Given the description of an element on the screen output the (x, y) to click on. 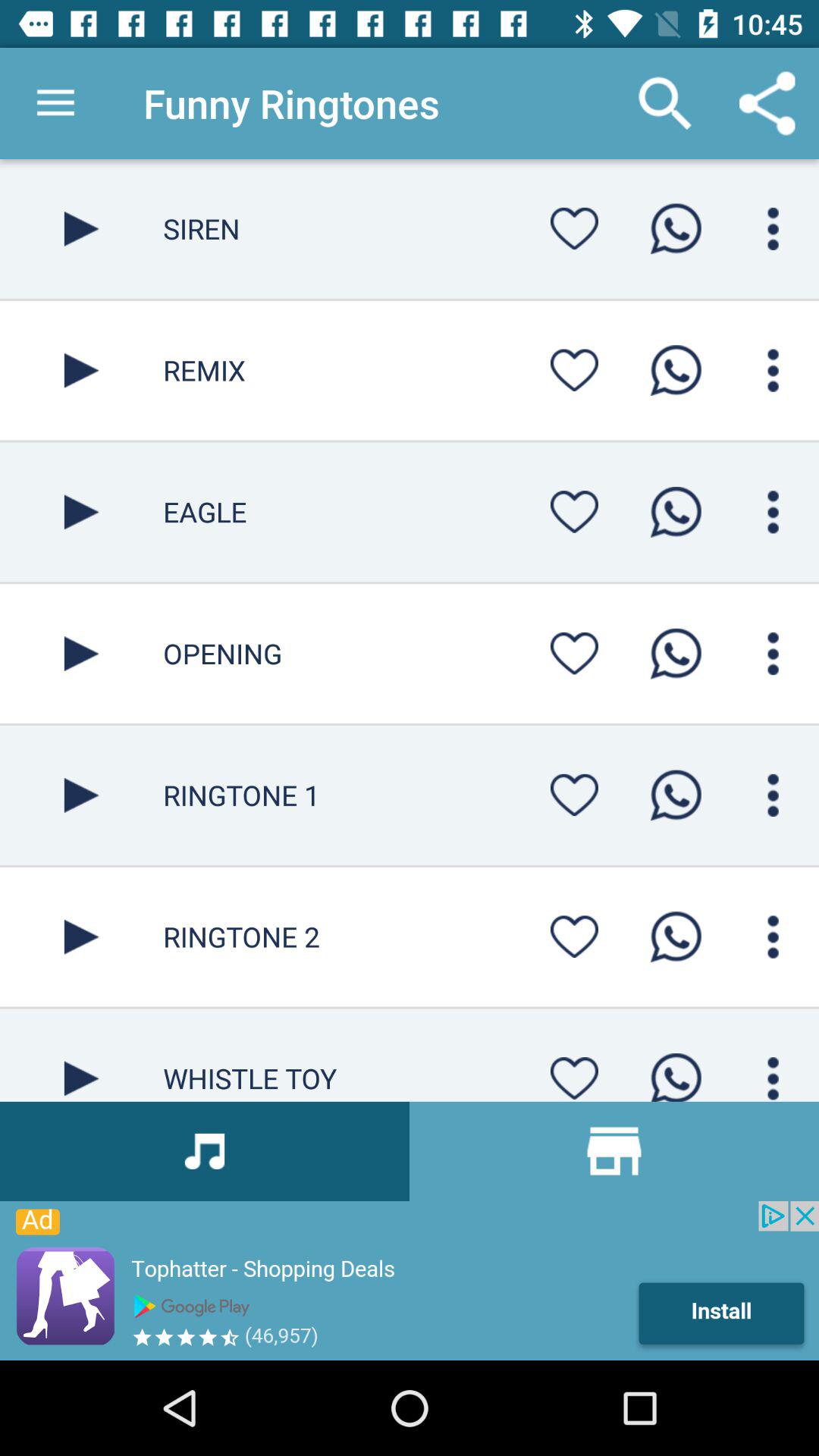
whatapp call page (675, 653)
